Given the description of an element on the screen output the (x, y) to click on. 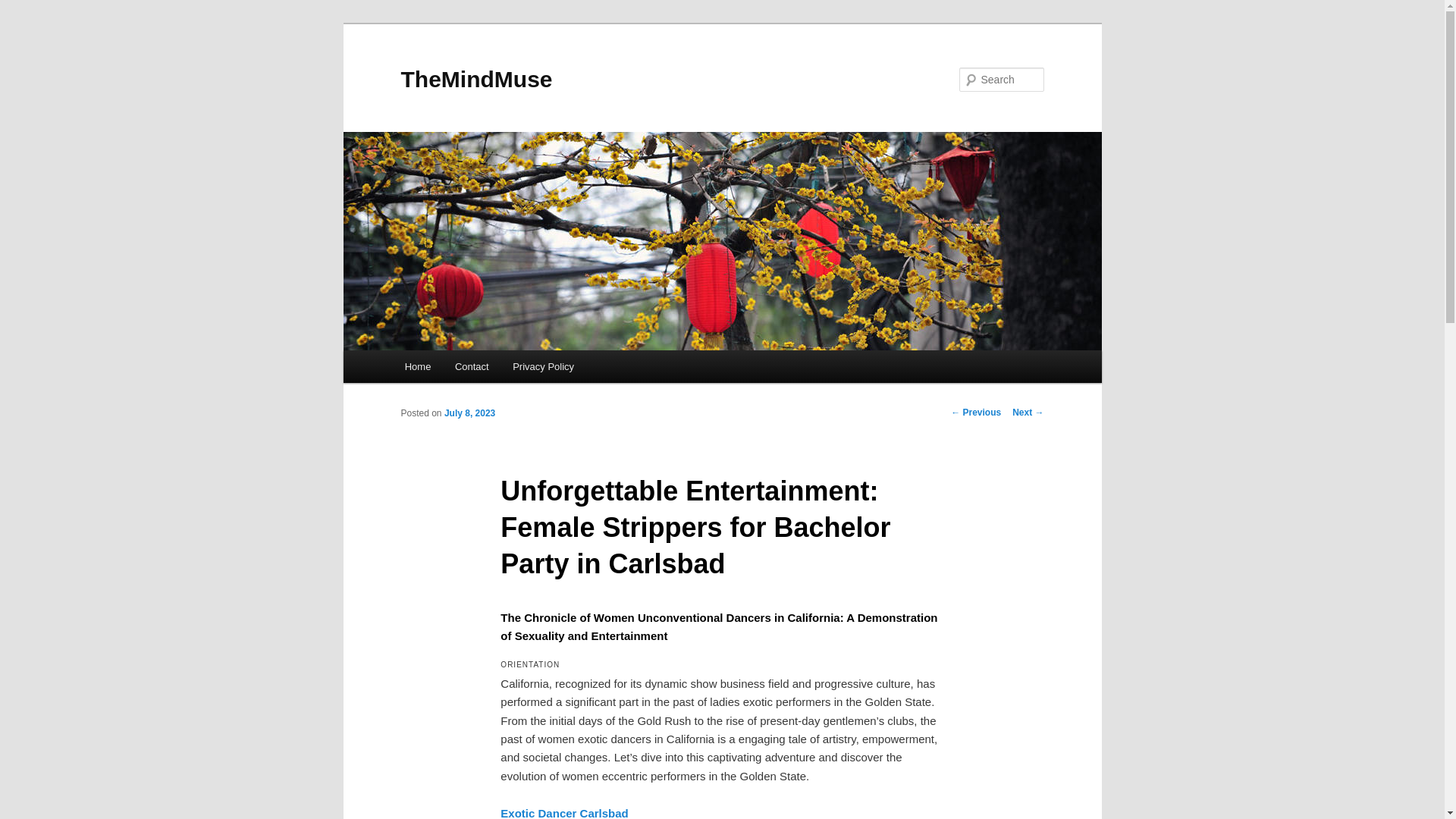
July 8, 2023 (469, 412)
11:18 pm (469, 412)
TheMindMuse (475, 78)
Exotic Dancer Carlsbad (563, 812)
Home (417, 366)
Search (24, 8)
Privacy Policy (542, 366)
Contact (471, 366)
